Given the description of an element on the screen output the (x, y) to click on. 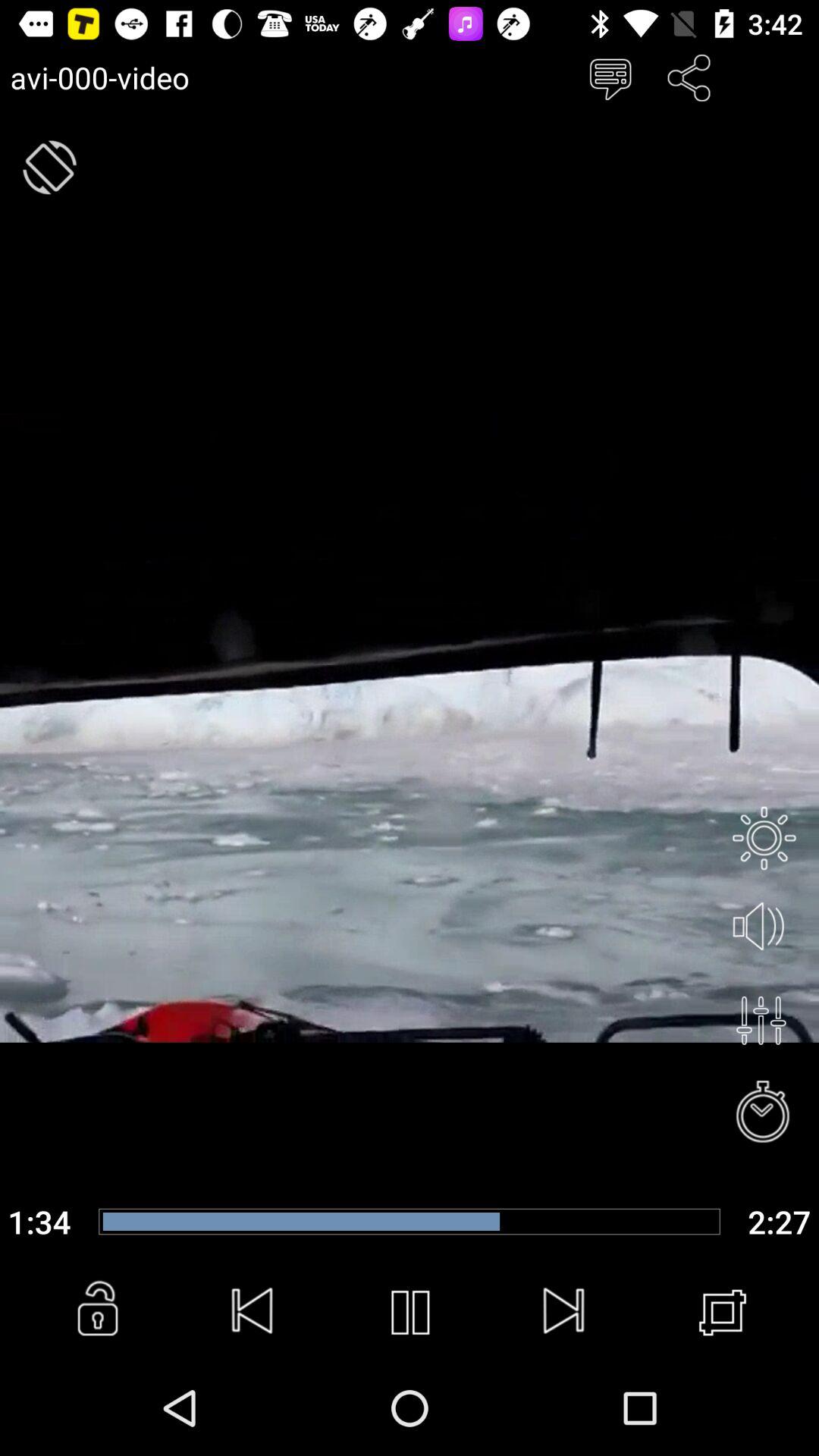
toggle option (761, 1020)
